Given the description of an element on the screen output the (x, y) to click on. 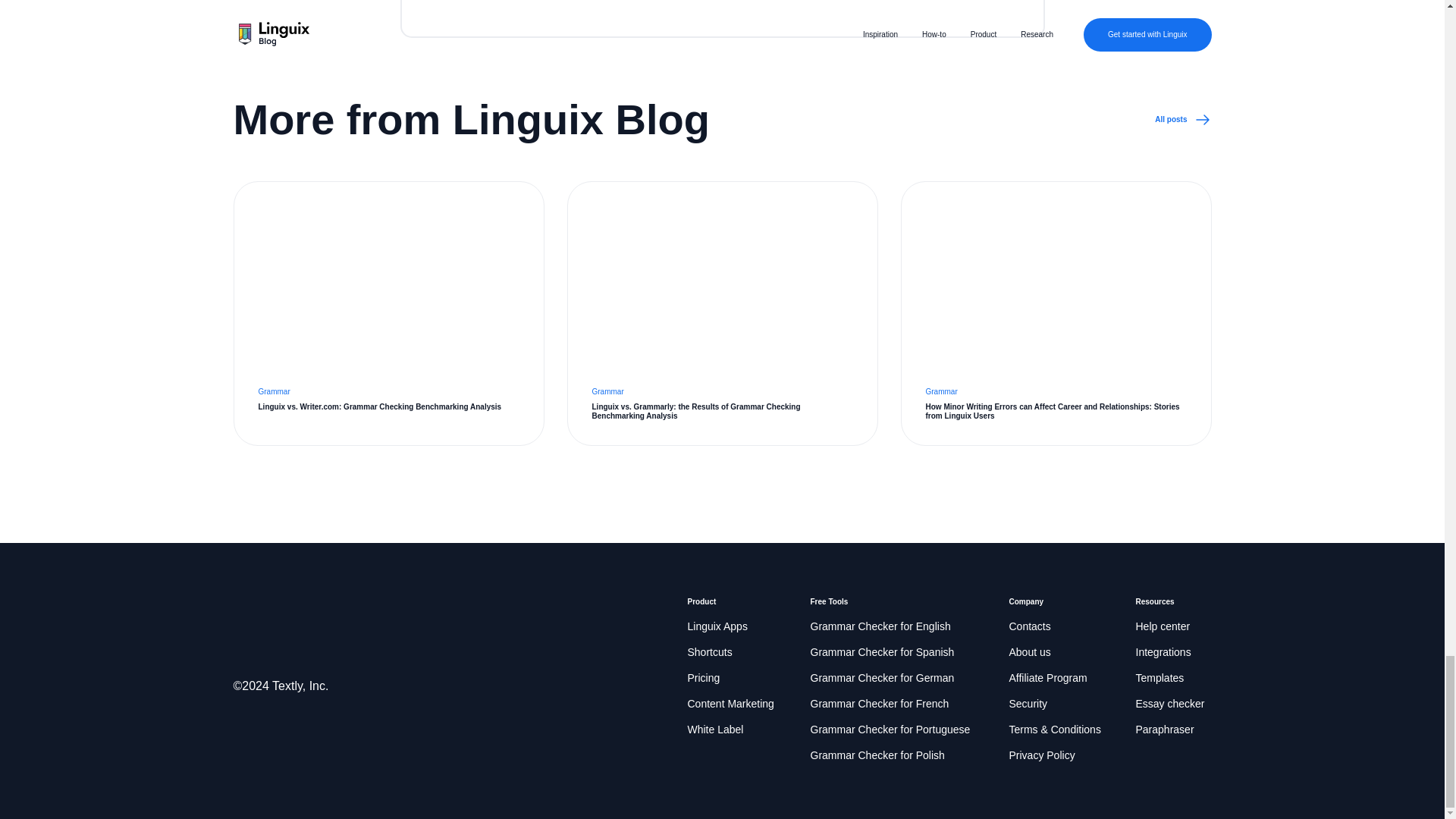
Free Tools (828, 601)
Grammar Checker for Polish (876, 755)
Templates (1160, 678)
Grammar Checker for Spanish (881, 652)
Integrations (1163, 652)
Paraphraser (1164, 729)
Essay checker (1170, 704)
Pricing (703, 678)
Grammar Checker for English (879, 627)
Grammar Checker for French (879, 704)
Product (701, 601)
Grammar Checker for Portuguese (889, 729)
Content Marketing (730, 704)
Resources (1154, 601)
